Given the description of an element on the screen output the (x, y) to click on. 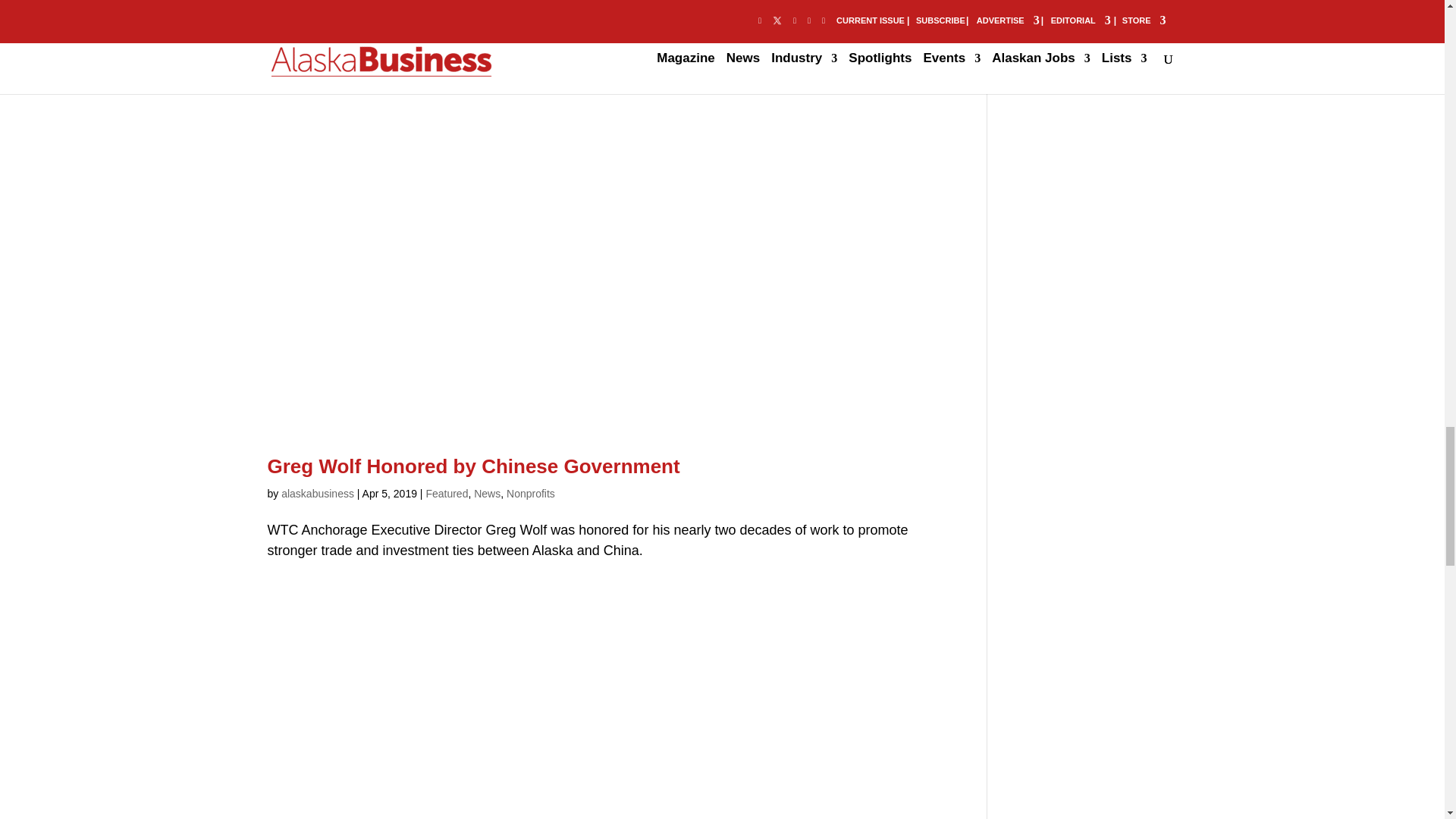
Posts by alaskabusiness (317, 493)
